Given the description of an element on the screen output the (x, y) to click on. 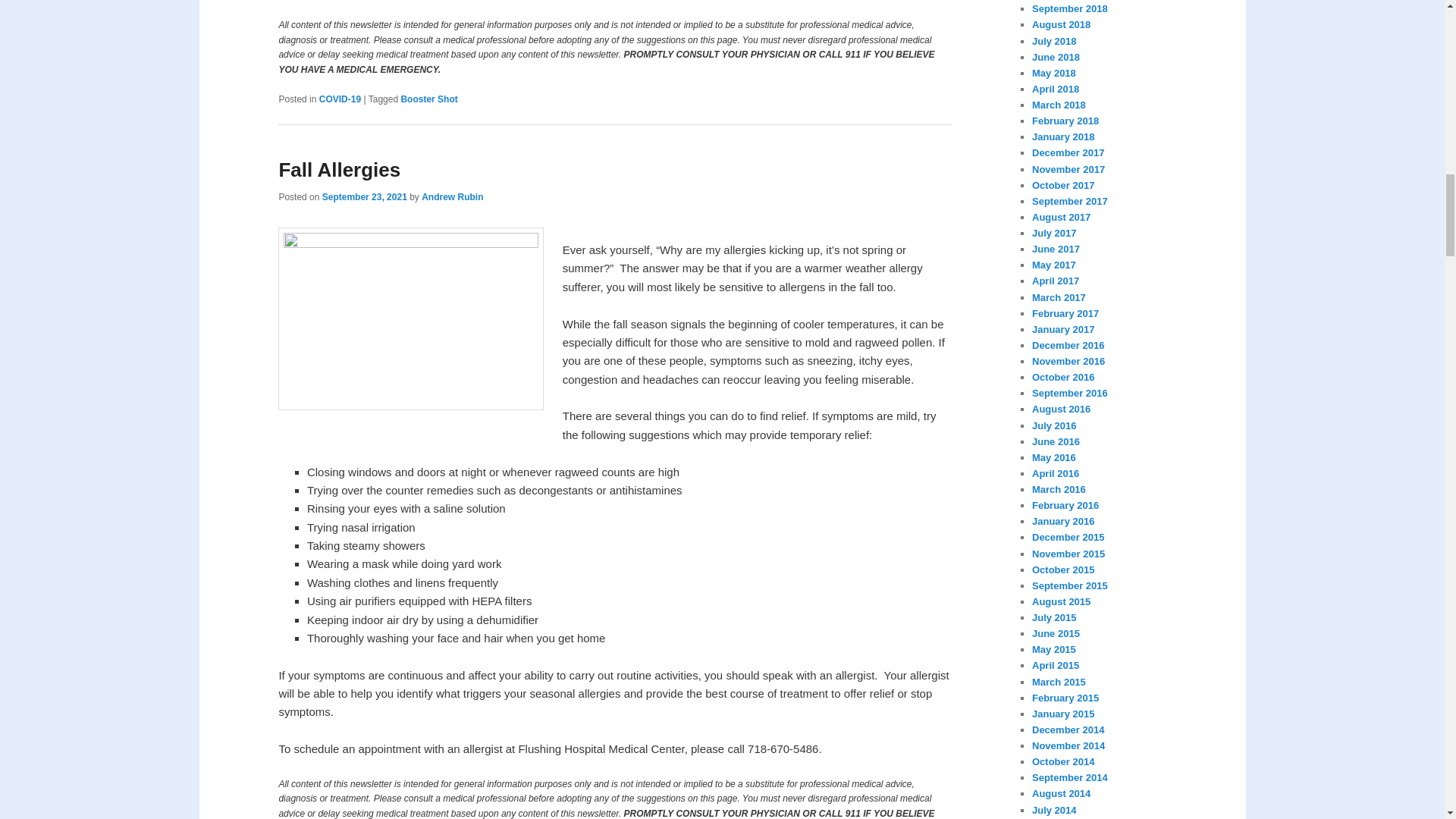
September 23, 2021 (364, 196)
View all posts by Andrew Rubin (452, 196)
COVID-19 (339, 99)
Fall Allergies (339, 169)
Booster Shot (428, 99)
4:53 pm (364, 196)
Andrew Rubin (452, 196)
